Given the description of an element on the screen output the (x, y) to click on. 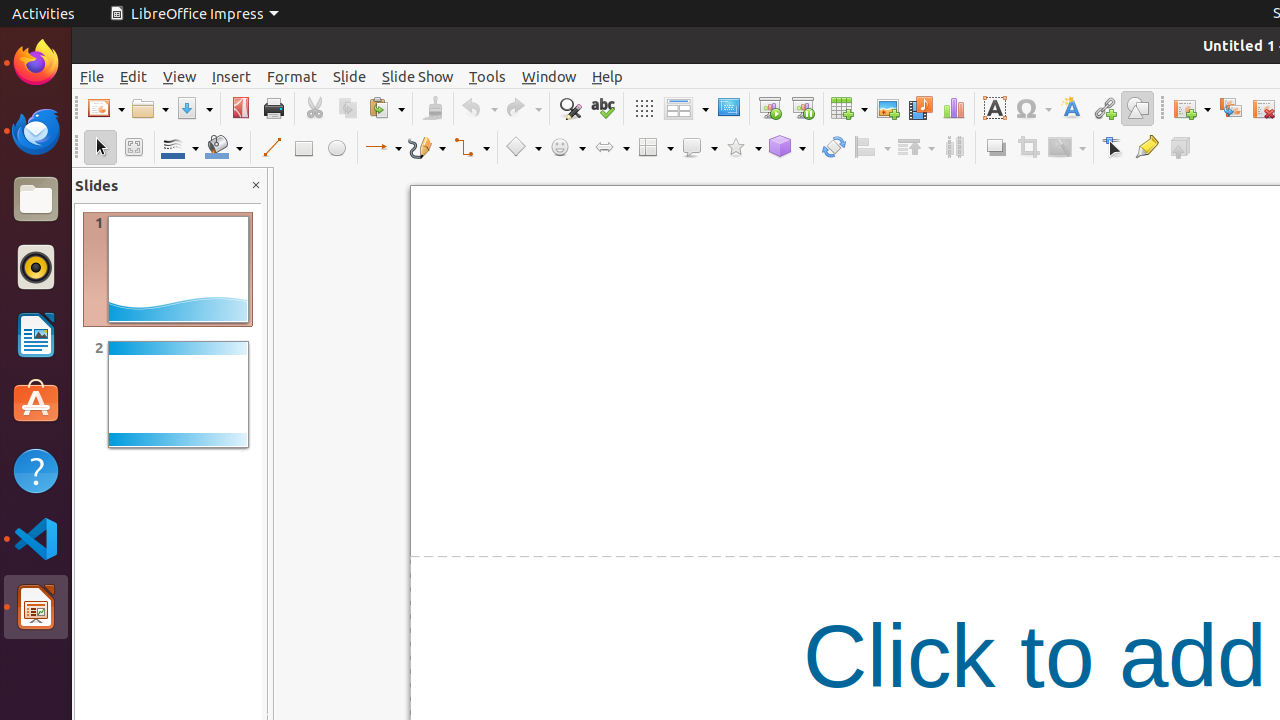
New Slide Element type: push-button (1192, 108)
Arrow Shapes Element type: push-button (611, 147)
Cut Element type: push-button (314, 108)
View Element type: menu (179, 76)
